Given the description of an element on the screen output the (x, y) to click on. 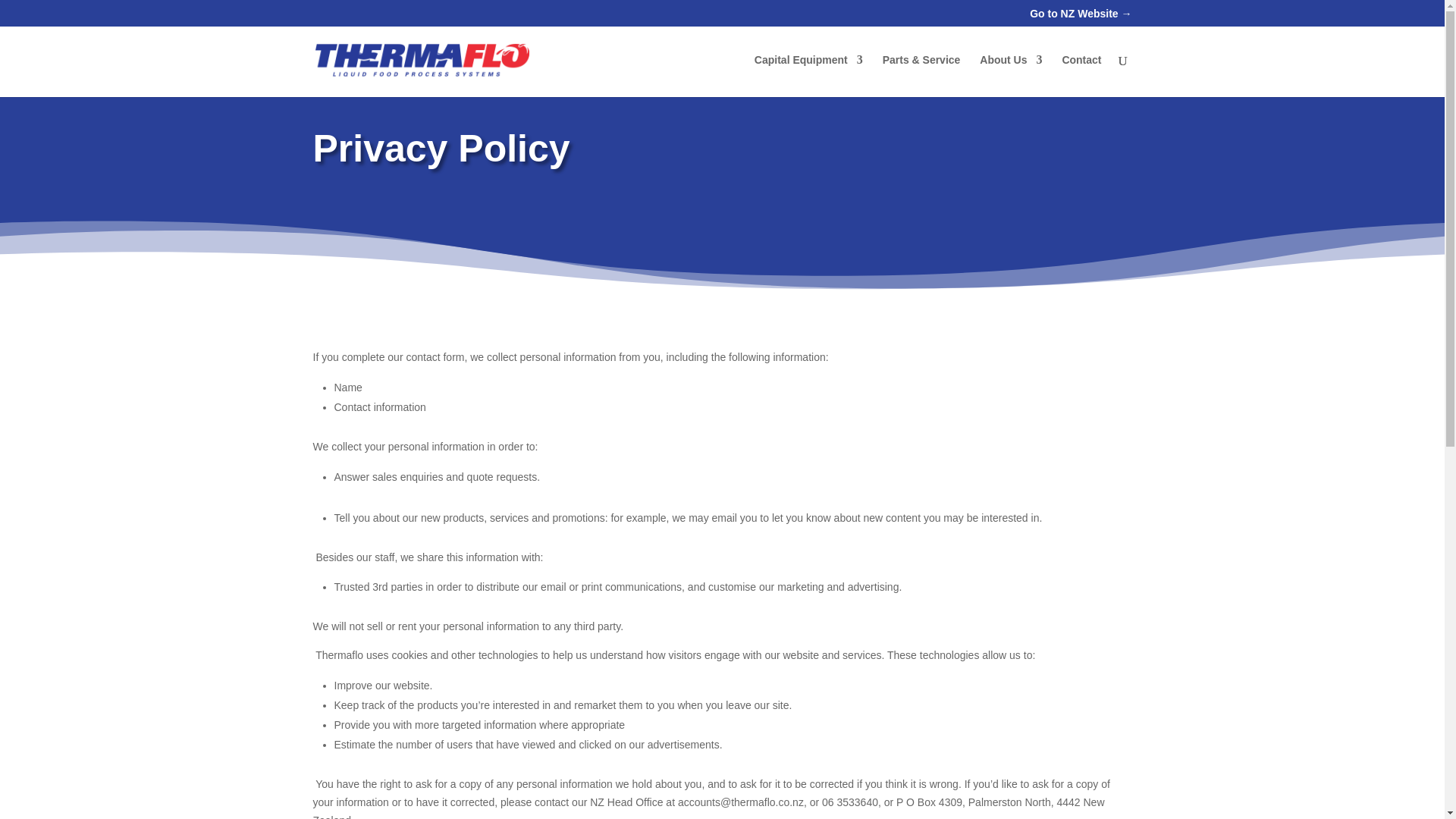
About Us (1010, 75)
Capital Equipment (808, 75)
Contact (1080, 75)
